Given the description of an element on the screen output the (x, y) to click on. 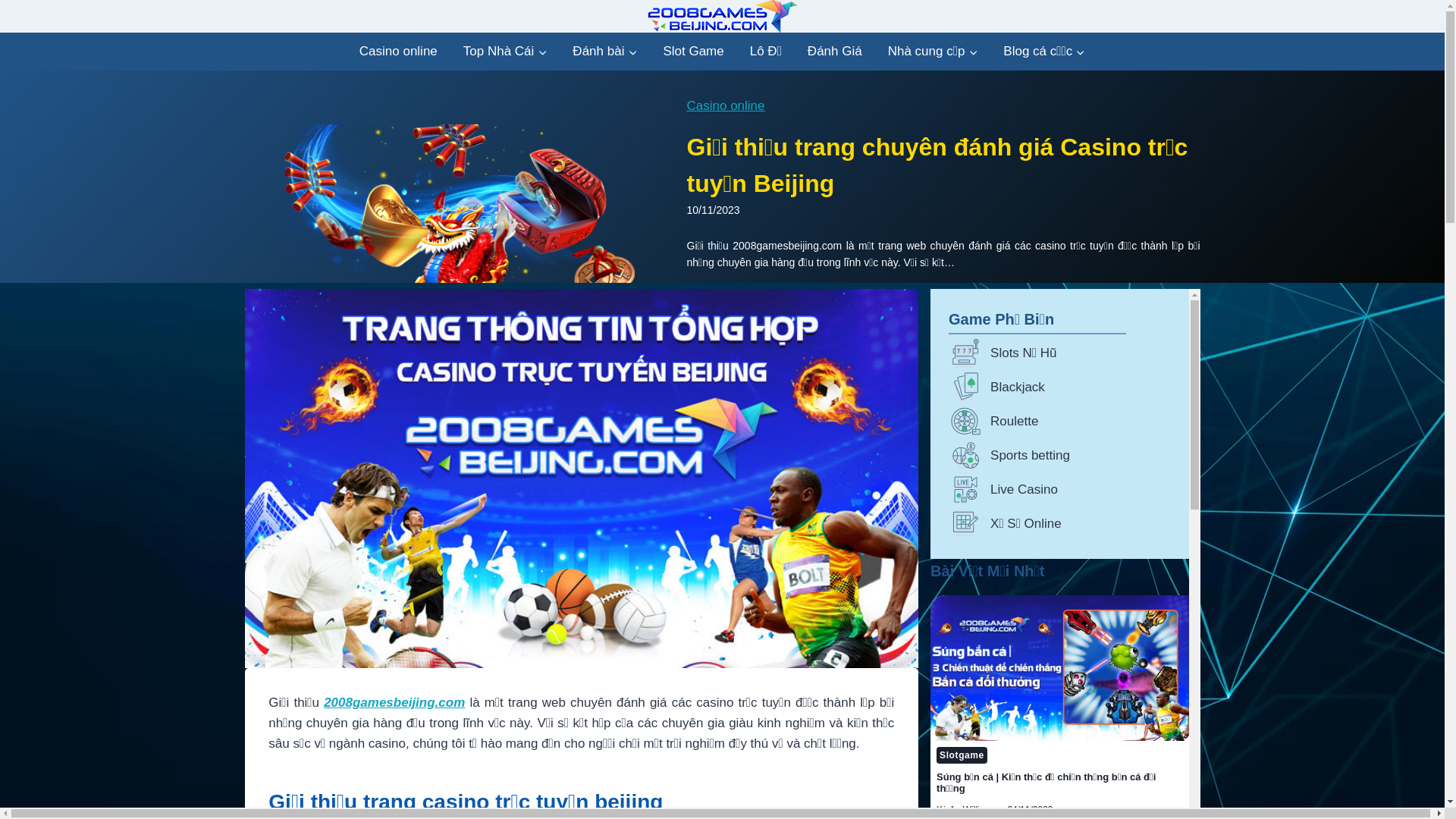
Slotgame Element type: text (961, 754)
2008gamesbeijing.com Element type: text (393, 702)
Casino online Element type: text (726, 105)
Casino online Element type: text (398, 50)
Slot Game Element type: text (692, 50)
